Given the description of an element on the screen output the (x, y) to click on. 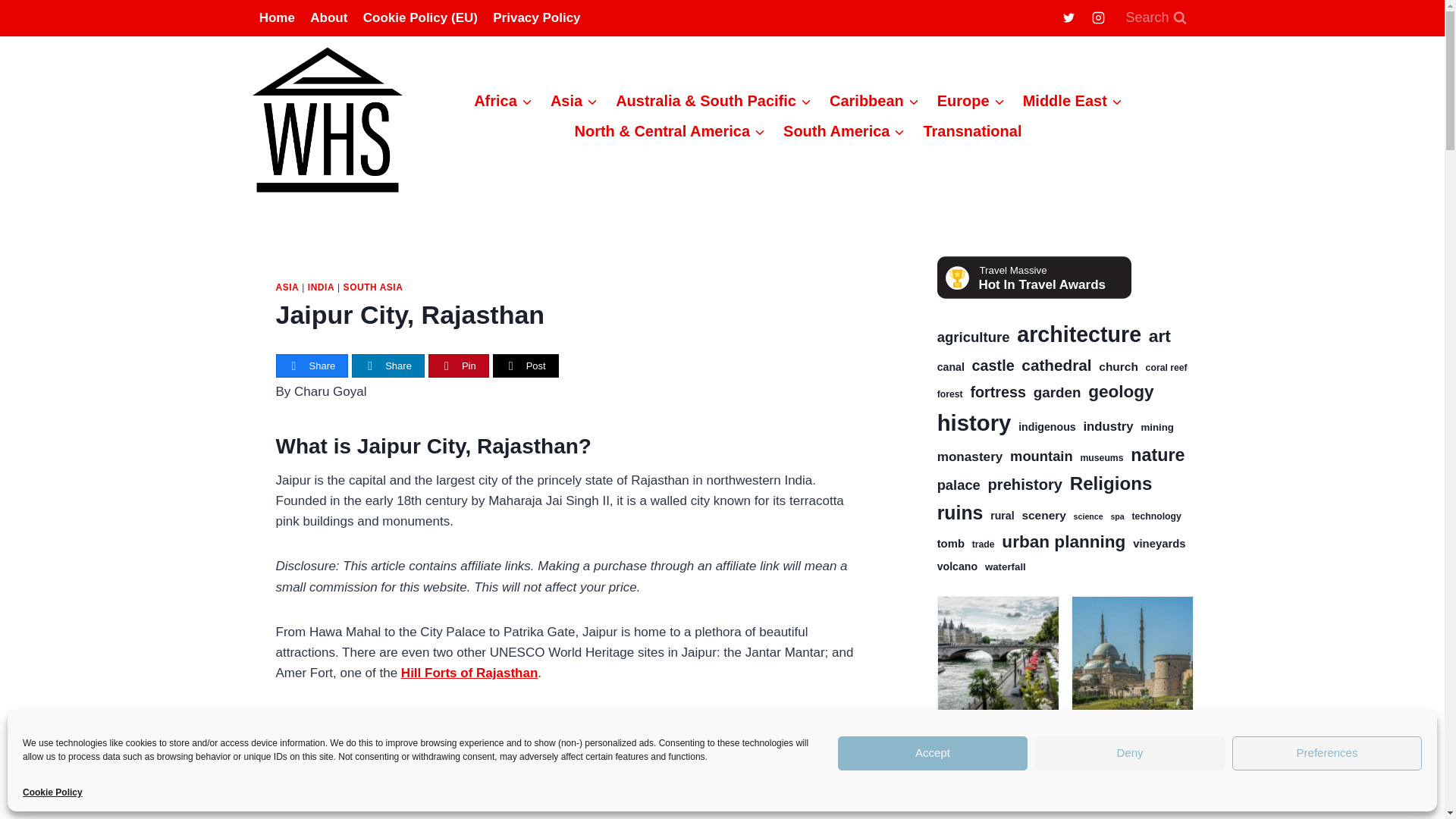
Home (276, 18)
Africa (502, 100)
Deny (1129, 753)
Preferences (1326, 753)
Search (1155, 18)
Privacy Policy (536, 18)
Accept (932, 753)
Cookie Policy (52, 792)
About (328, 18)
